Given the description of an element on the screen output the (x, y) to click on. 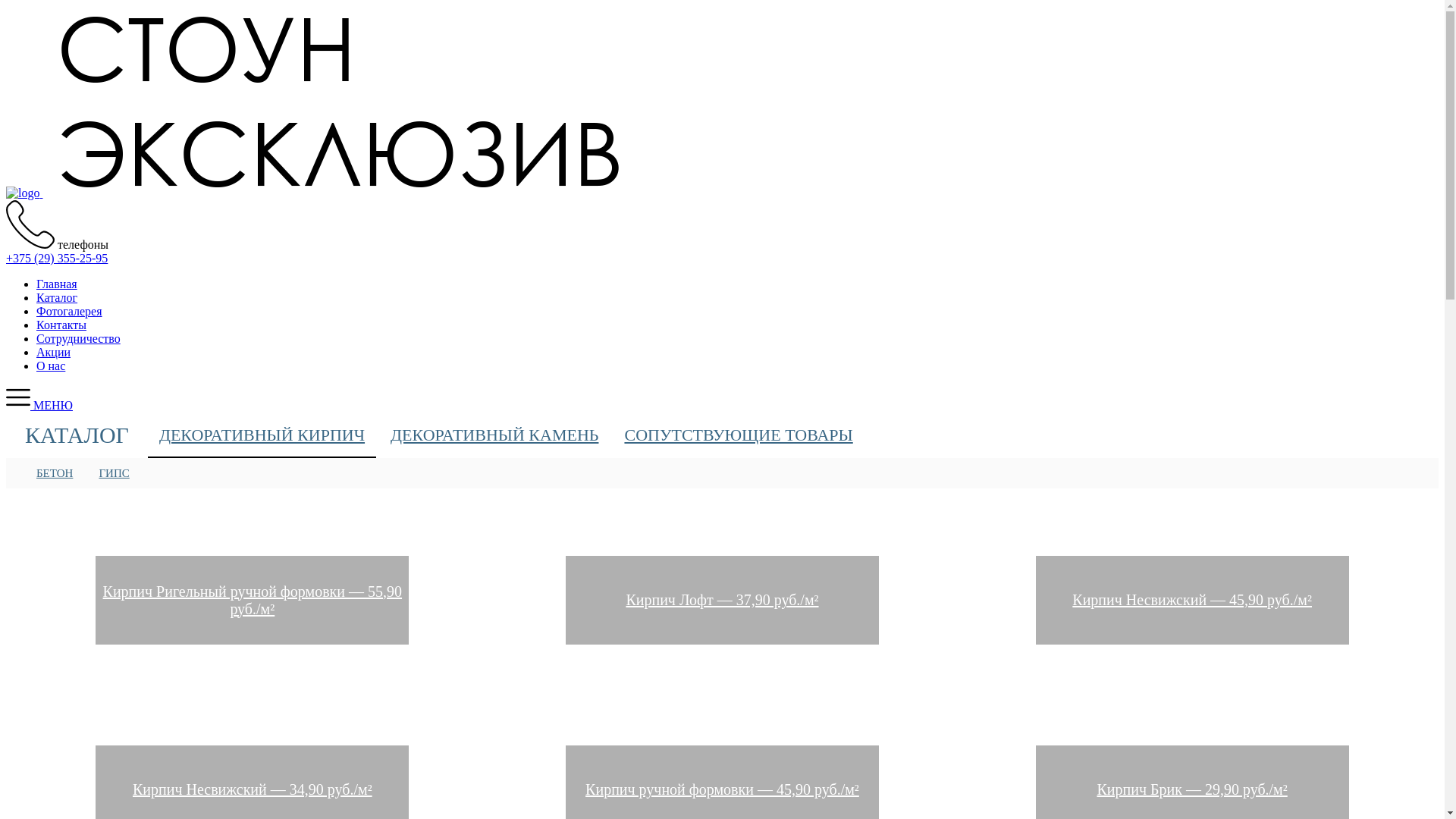
+375 (29) 355-25-95 Element type: text (56, 257)
